Given the description of an element on the screen output the (x, y) to click on. 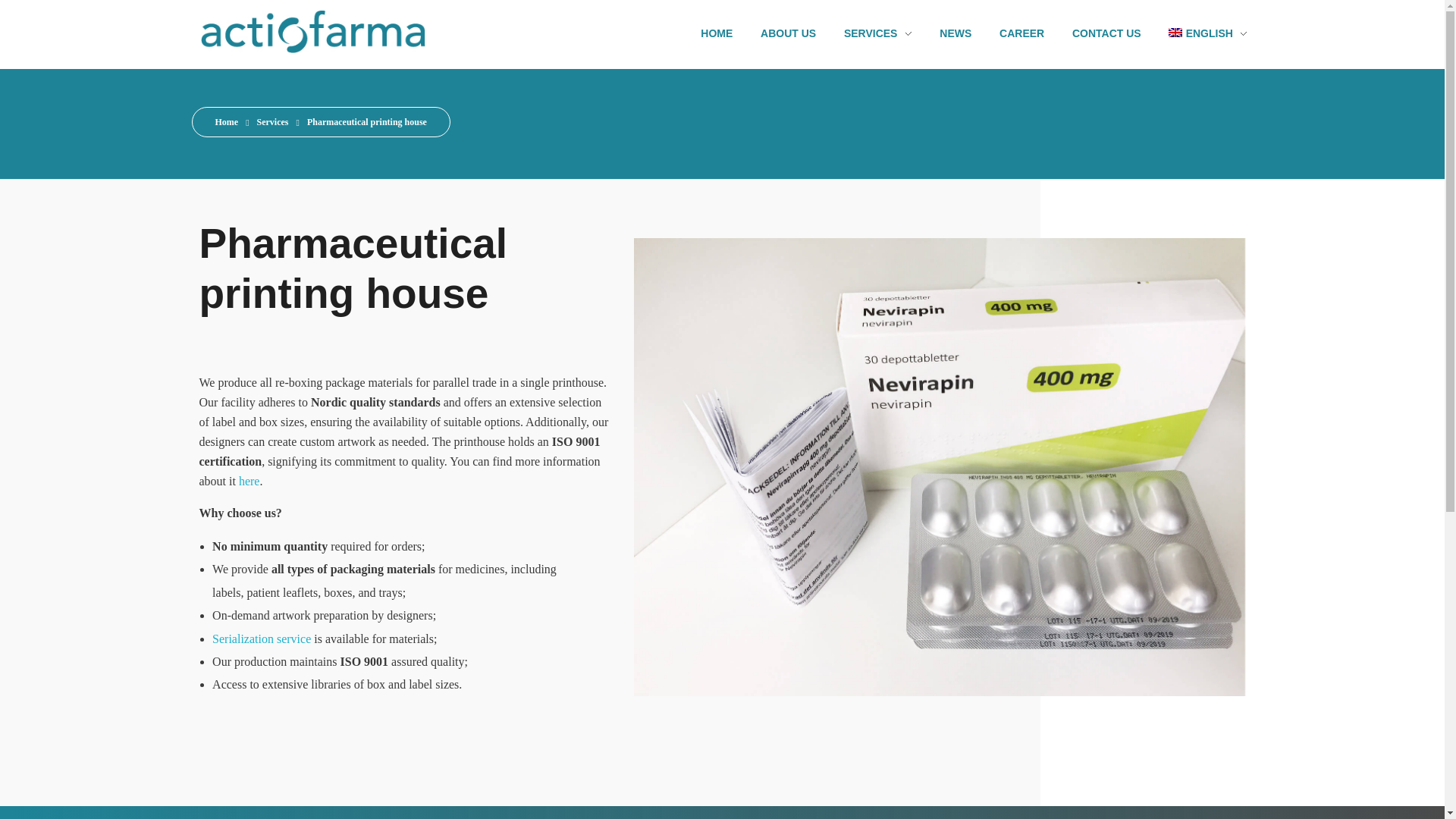
Actiofarma (243, 61)
Serialization service (261, 640)
Actiofarma (332, 31)
Actiofarma (243, 61)
Home (226, 122)
CAREER (1021, 33)
Home (226, 122)
ABOUT US (787, 33)
NEWS (955, 33)
HOME (722, 33)
